Given the description of an element on the screen output the (x, y) to click on. 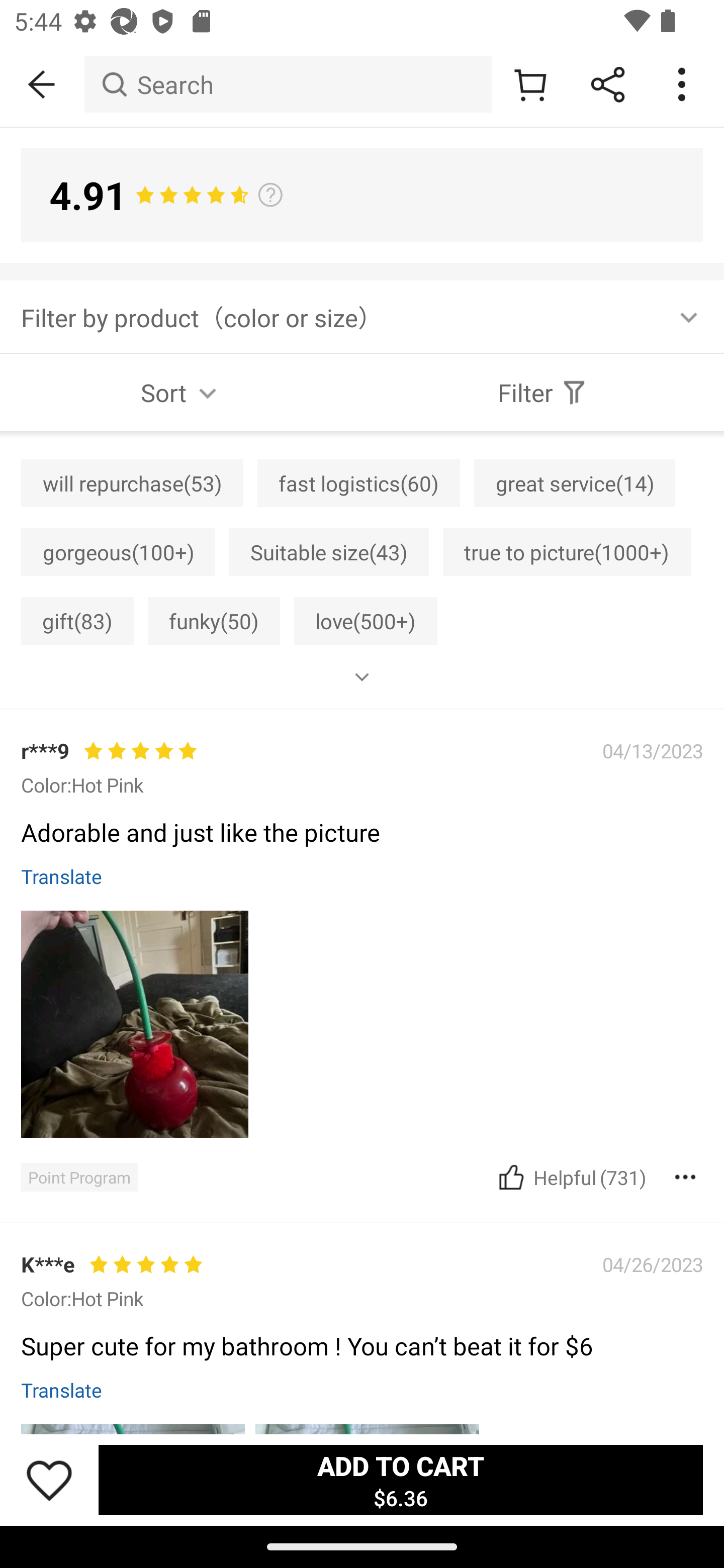
BACK (42, 84)
Search (287, 84)
Filter by product（color or size） (362, 316)
Sort (181, 392)
Filter (543, 392)
will repurchase(53) (131, 482)
fast logistics(60) (358, 482)
great service(14) (574, 482)
gorgeous(100‎+) (117, 551)
Suitable size(43) (328, 551)
true to picture(1000‎+) (566, 551)
gift(83) (76, 620)
funky(50) (213, 620)
love(500‎+) (365, 620)
Translate (61, 875)
Cancel Helpful Was this article helpful? (731) (570, 1177)
Point Program (78, 1177)
Color: Green Hot Pink Orange Green (362, 1338)
Color: Green (105, 1292)
Translate (61, 1389)
ADD TO CART $6.36 (400, 1479)
Save (48, 1479)
